Given the description of an element on the screen output the (x, y) to click on. 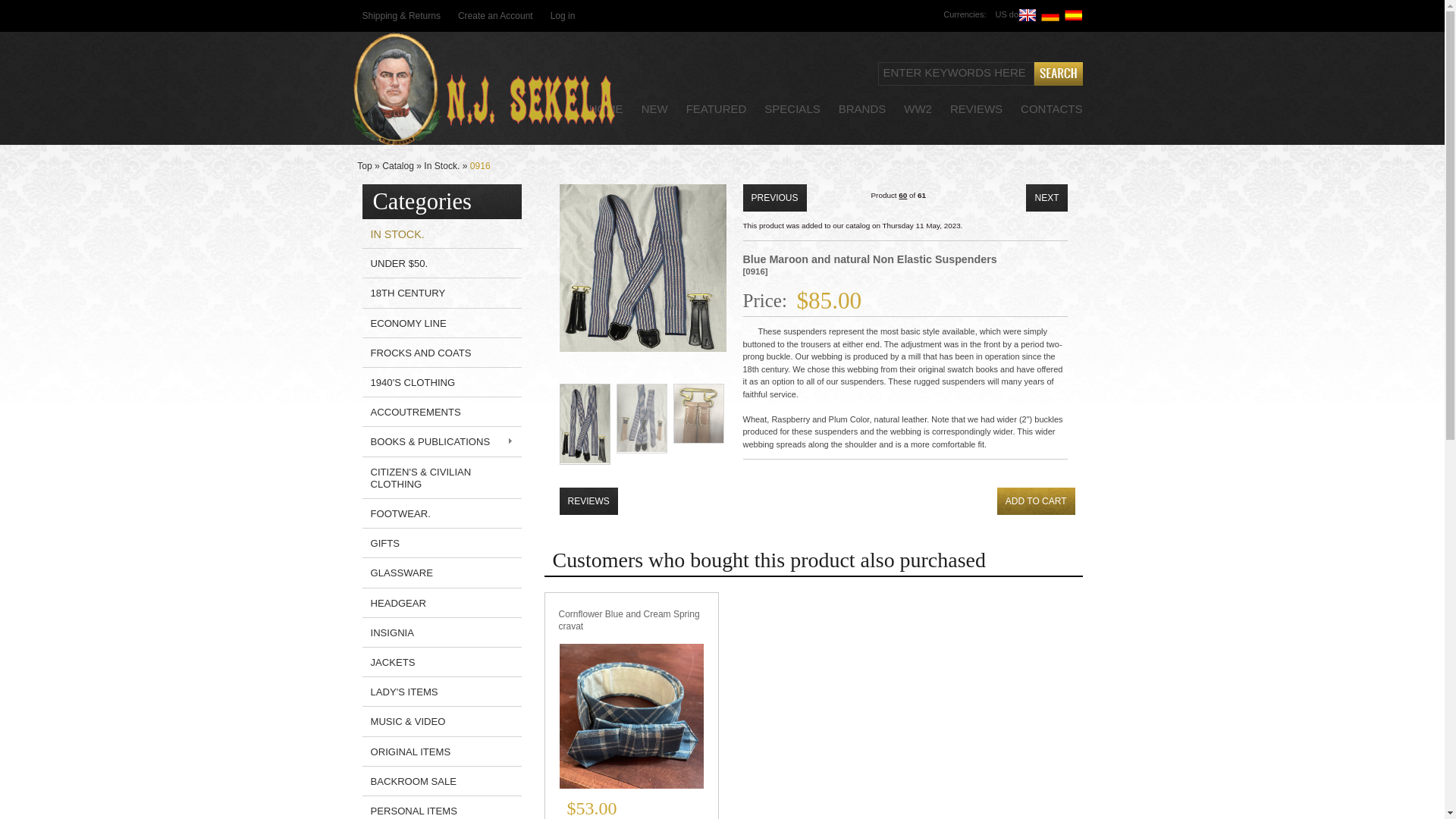
ADD TO CART (1036, 500)
Top (364, 165)
SPECIALS (793, 109)
1940'S CLOTHING (408, 381)
Catalog (397, 165)
HOME (607, 109)
English (1027, 15)
0916 (480, 165)
NEW (656, 109)
ECONOMY LINE (404, 322)
Log in (562, 16)
Espanol (1073, 15)
CONTACTS (1052, 109)
Blue Marron and natural webbing. (642, 267)
In Stock. (441, 165)
